Given the description of an element on the screen output the (x, y) to click on. 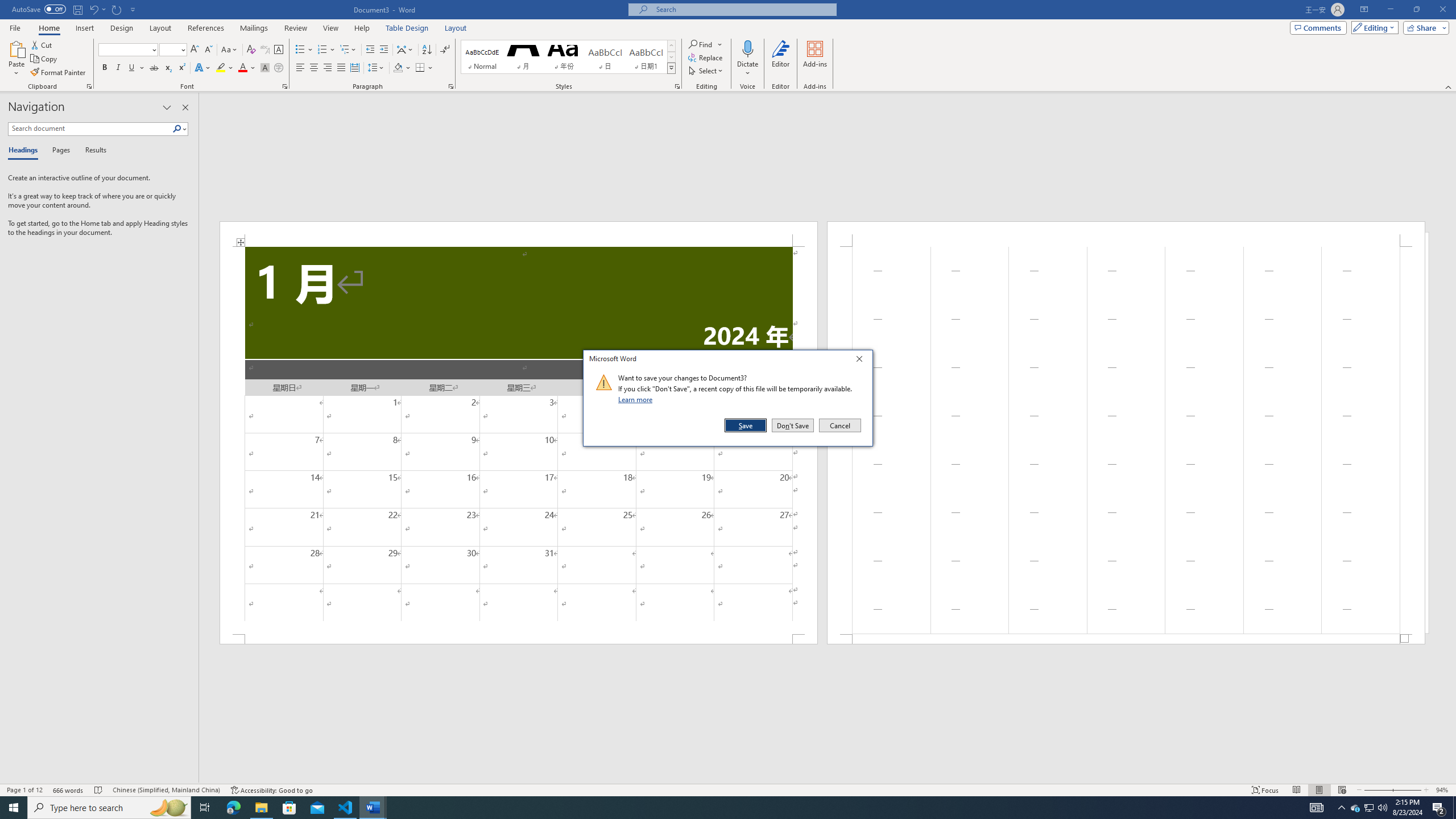
Class: MsoCommandBar (728, 789)
Font... (285, 85)
Strikethrough (154, 67)
Character Border (278, 49)
Sort... (426, 49)
Search highlights icon opens search home window (167, 807)
Align Right (327, 67)
Page Number Page 1 of 12 (24, 790)
Cancel (839, 425)
Language Chinese (Simplified, Mainland China) (165, 790)
Styles... (676, 85)
Phonetic Guide... (264, 49)
